Given the description of an element on the screen output the (x, y) to click on. 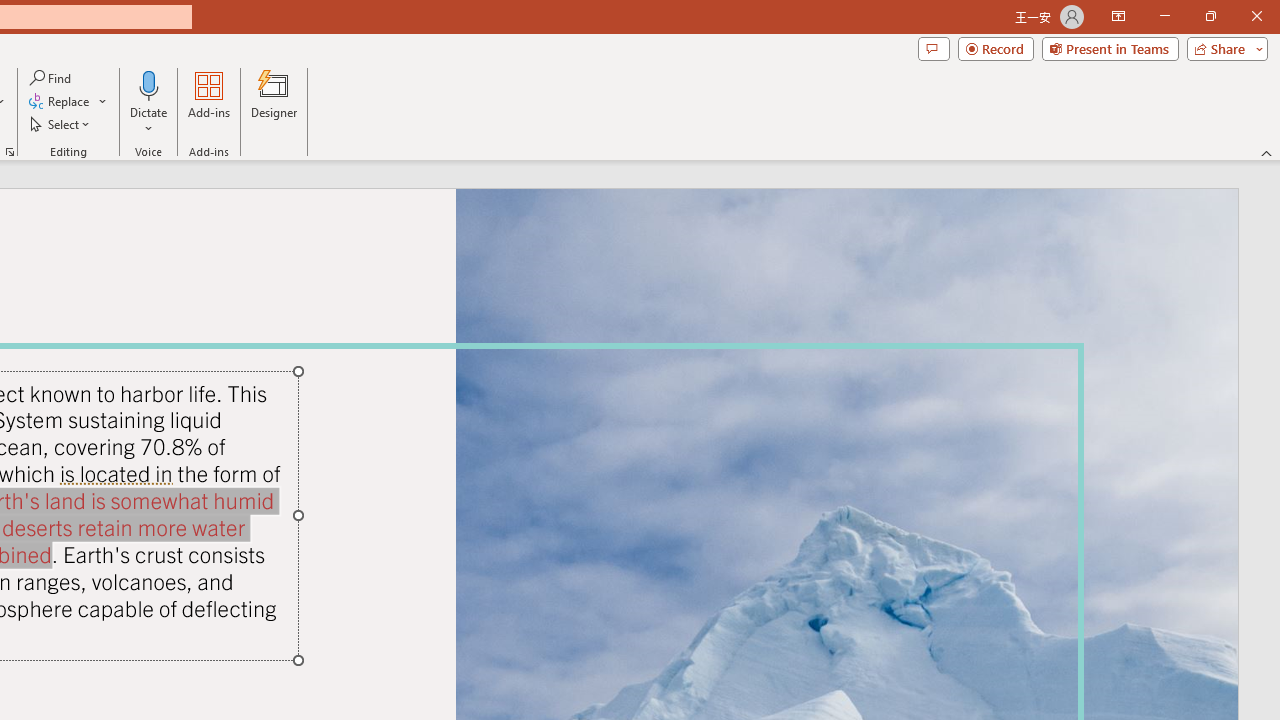
Format Object... (9, 151)
